Given the description of an element on the screen output the (x, y) to click on. 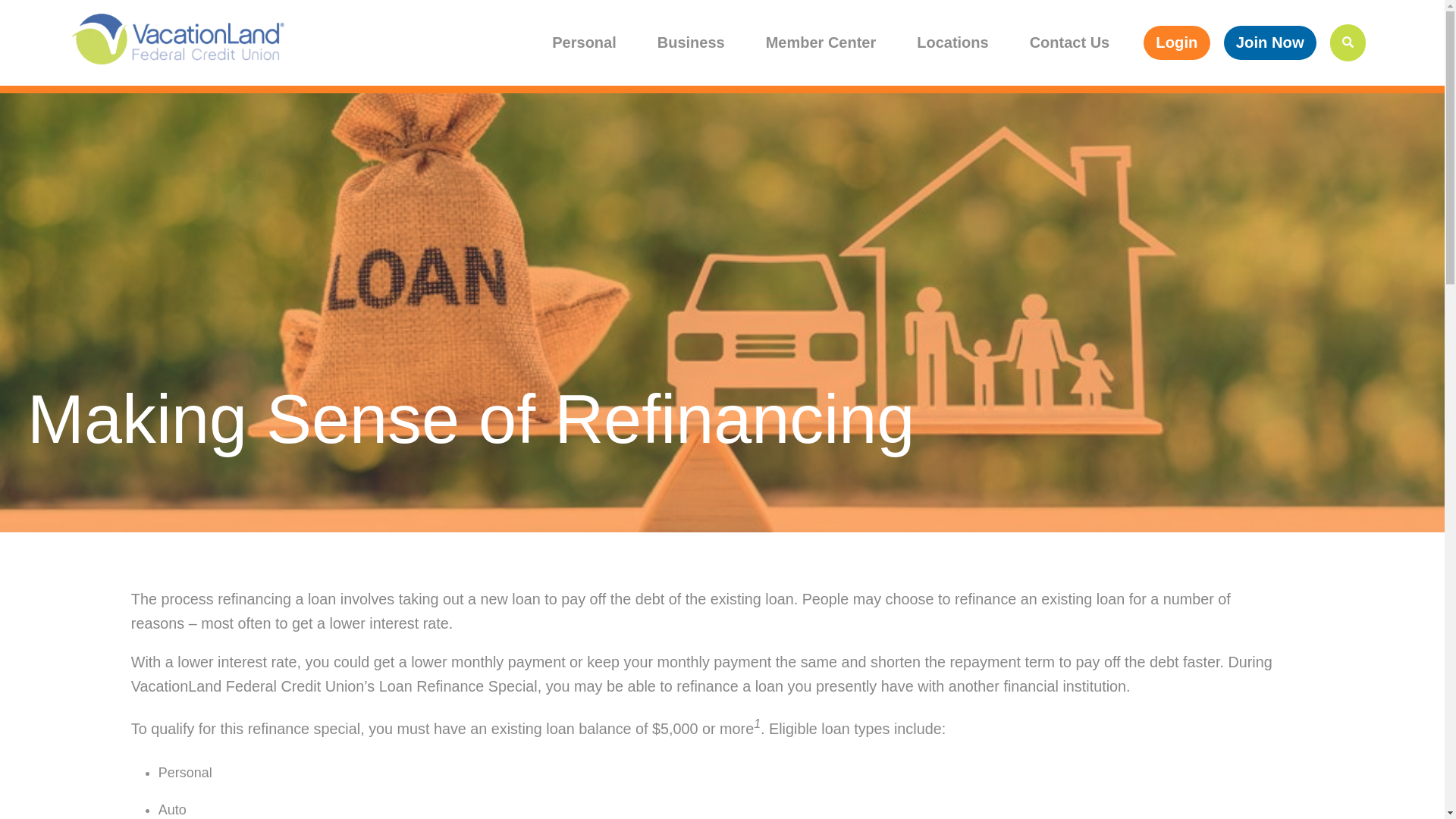
Locations (952, 42)
Business (691, 42)
Contact Us (1070, 42)
Personal (583, 42)
Member Center (820, 42)
Login (1175, 42)
Join Now (1270, 42)
